Given the description of an element on the screen output the (x, y) to click on. 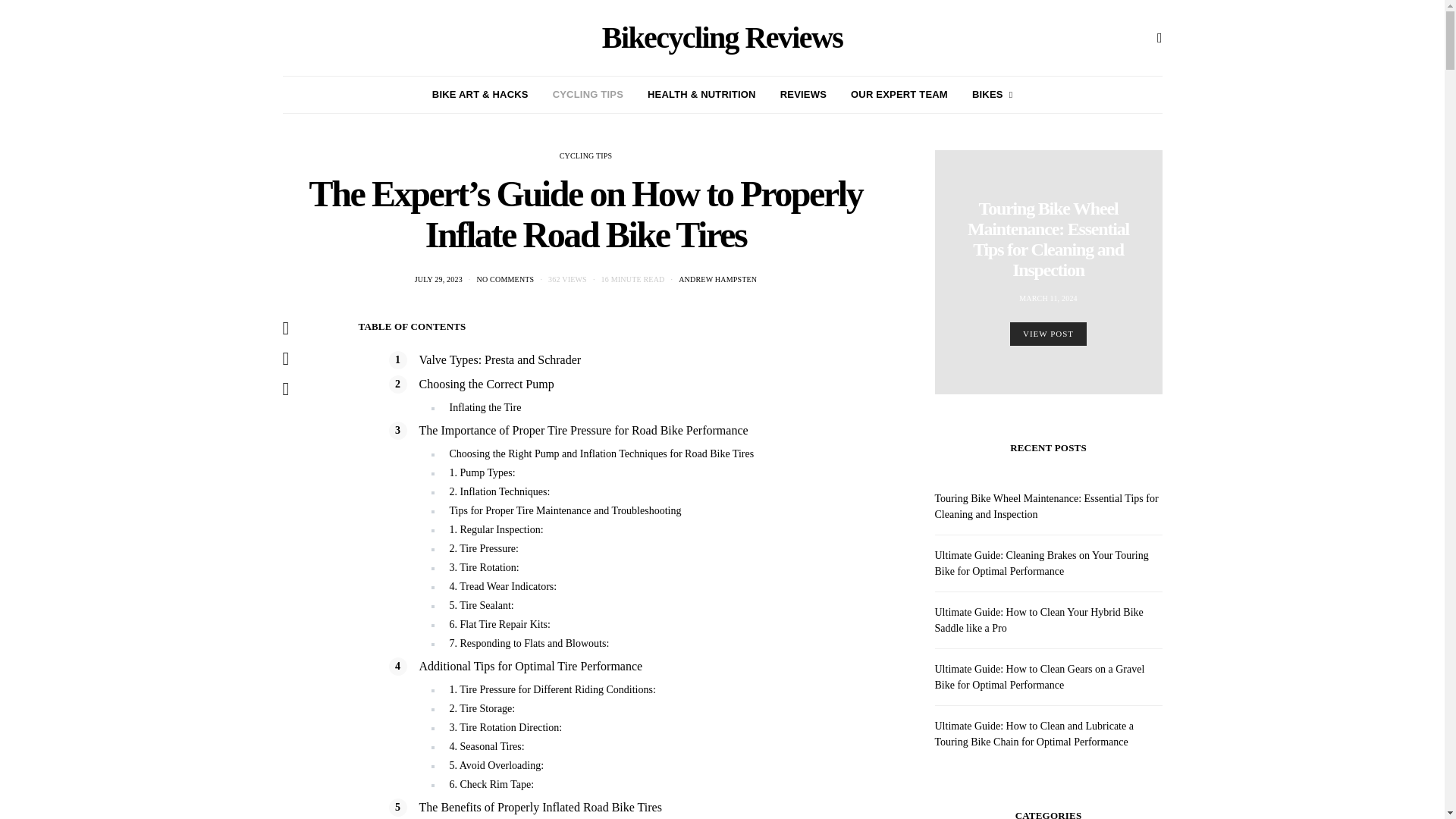
ANDREW HAMPSTEN (717, 279)
2. Inflation Techniques: (499, 491)
BIKES (991, 94)
CYCLING TIPS (588, 94)
JULY 29, 2023 (438, 279)
Inflating the Tire (484, 407)
Valve Types: Presta and Schrader (499, 359)
REVIEWS (803, 94)
OUR EXPERT TEAM (898, 94)
Bikecycling Reviews (722, 37)
Tips for Proper Tire Maintenance and Troubleshooting (564, 510)
Choosing the Correct Pump (486, 383)
CYCLING TIPS (585, 155)
